Given the description of an element on the screen output the (x, y) to click on. 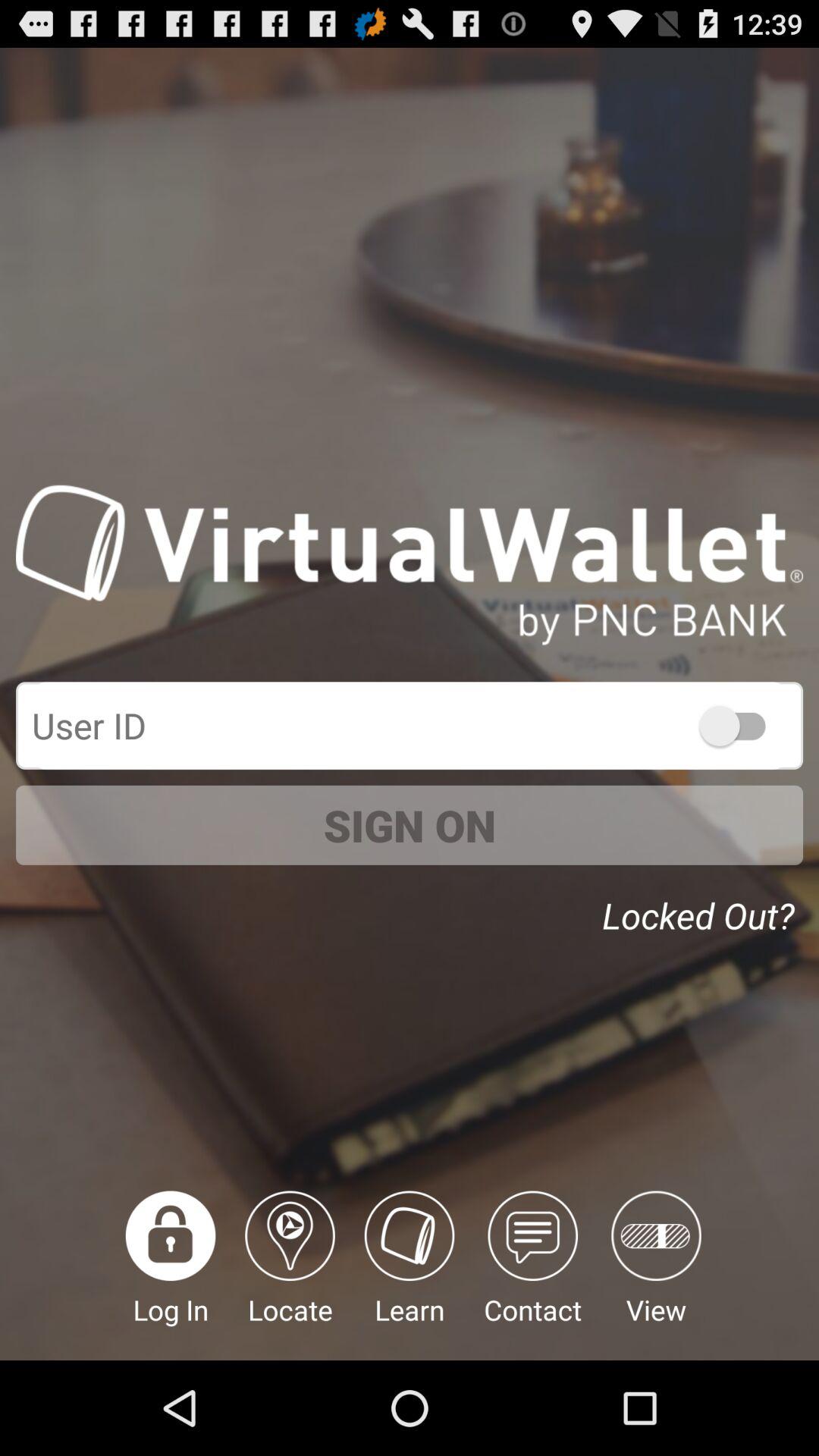
enter box (409, 725)
